Given the description of an element on the screen output the (x, y) to click on. 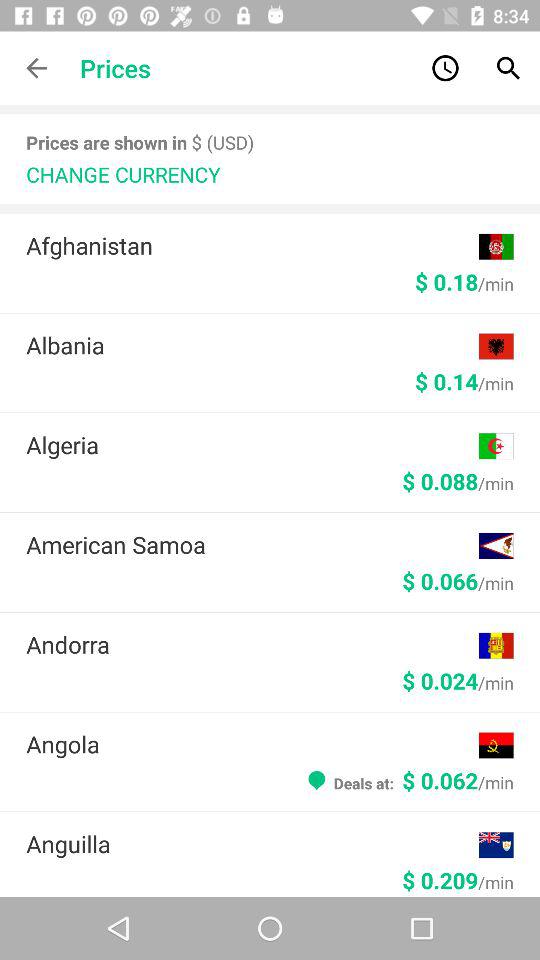
open the item below $ 0.024/min icon (252, 744)
